Given the description of an element on the screen output the (x, y) to click on. 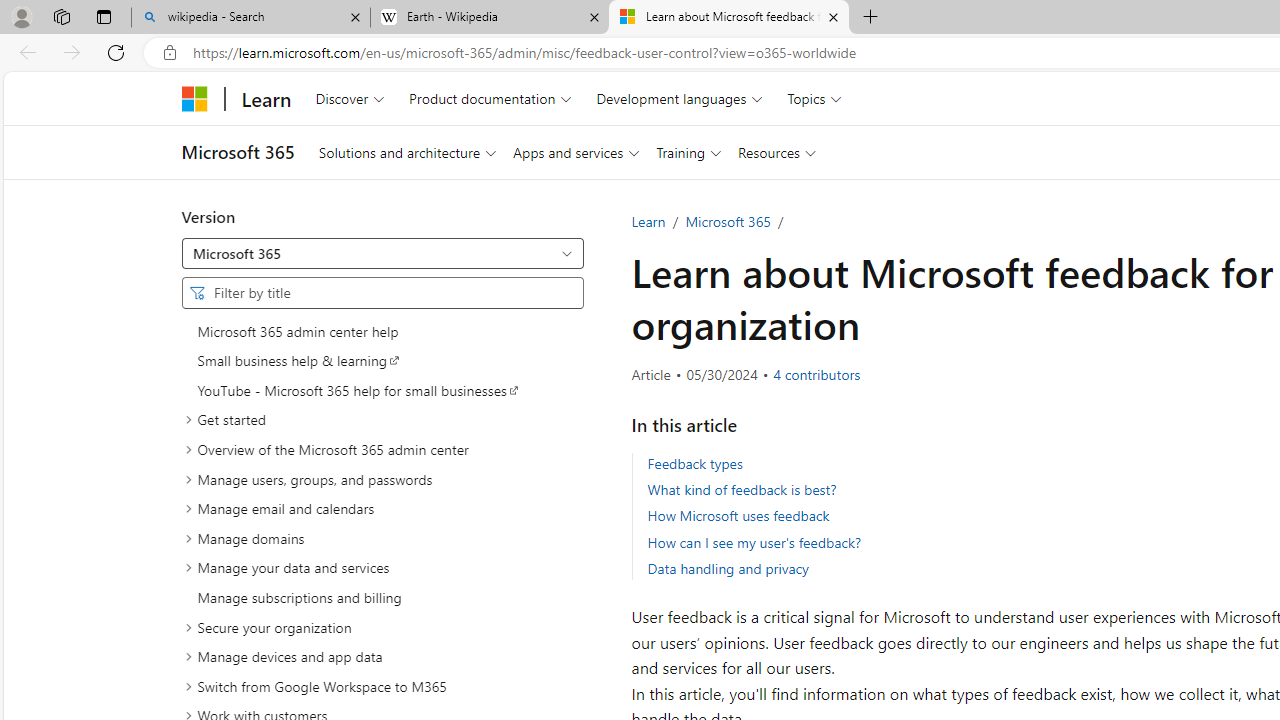
4 contributors (817, 375)
Solutions and architecture (407, 152)
Resources (777, 152)
Personal Profile (21, 16)
Feedback types (694, 462)
New Tab (870, 17)
Solutions and architecture (407, 152)
wikipedia - Search (250, 17)
View site information (169, 53)
Forward (72, 52)
